Given the description of an element on the screen output the (x, y) to click on. 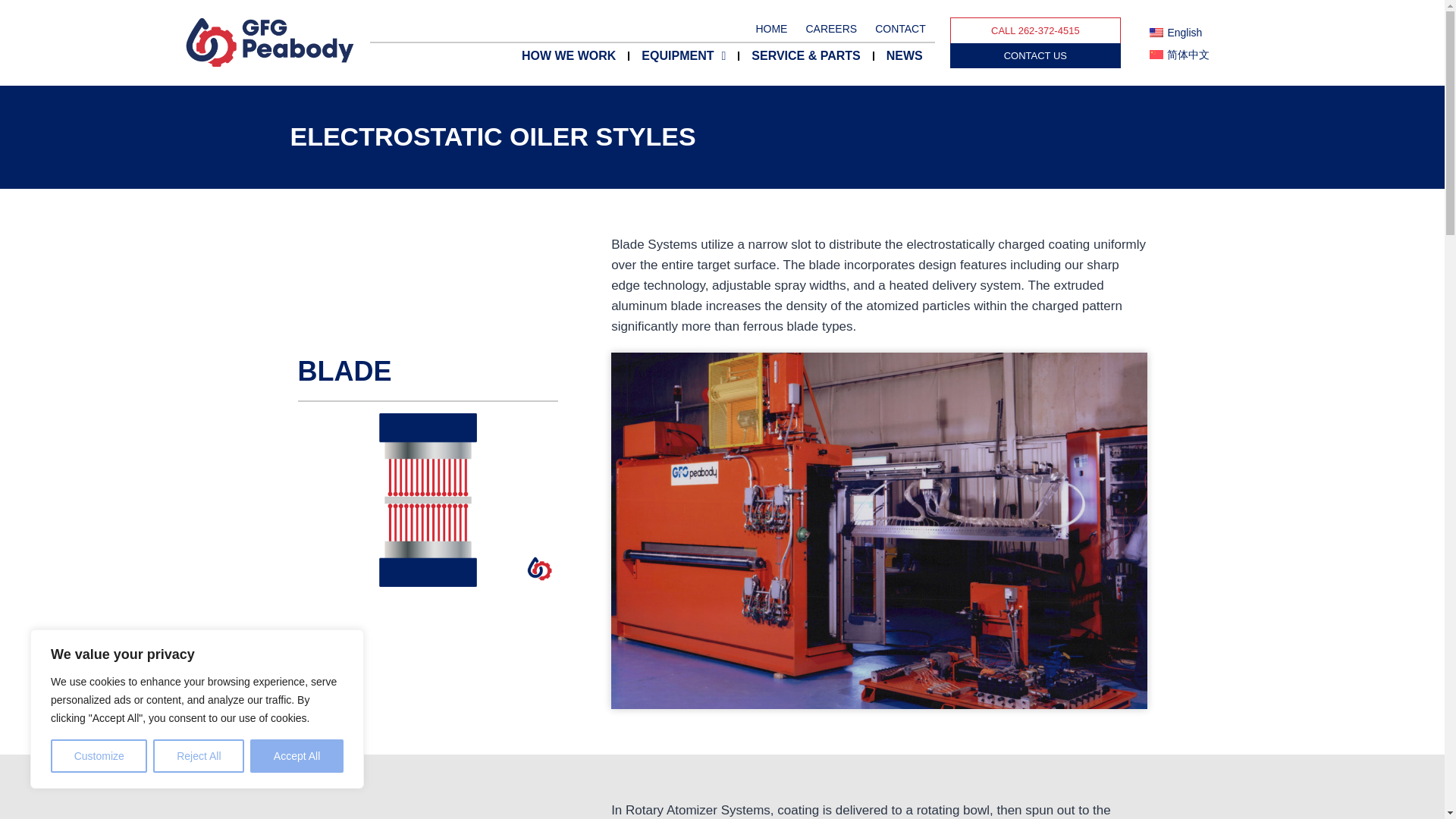
HOME (770, 28)
EQUIPMENT (683, 55)
English (1175, 32)
CONTACT US (1035, 55)
CALL 262-372-4515 (1035, 30)
Reject All (198, 756)
HOW WE WORK (568, 55)
Customize (98, 756)
CAREERS (831, 28)
CONTACT (900, 28)
